Given the description of an element on the screen output the (x, y) to click on. 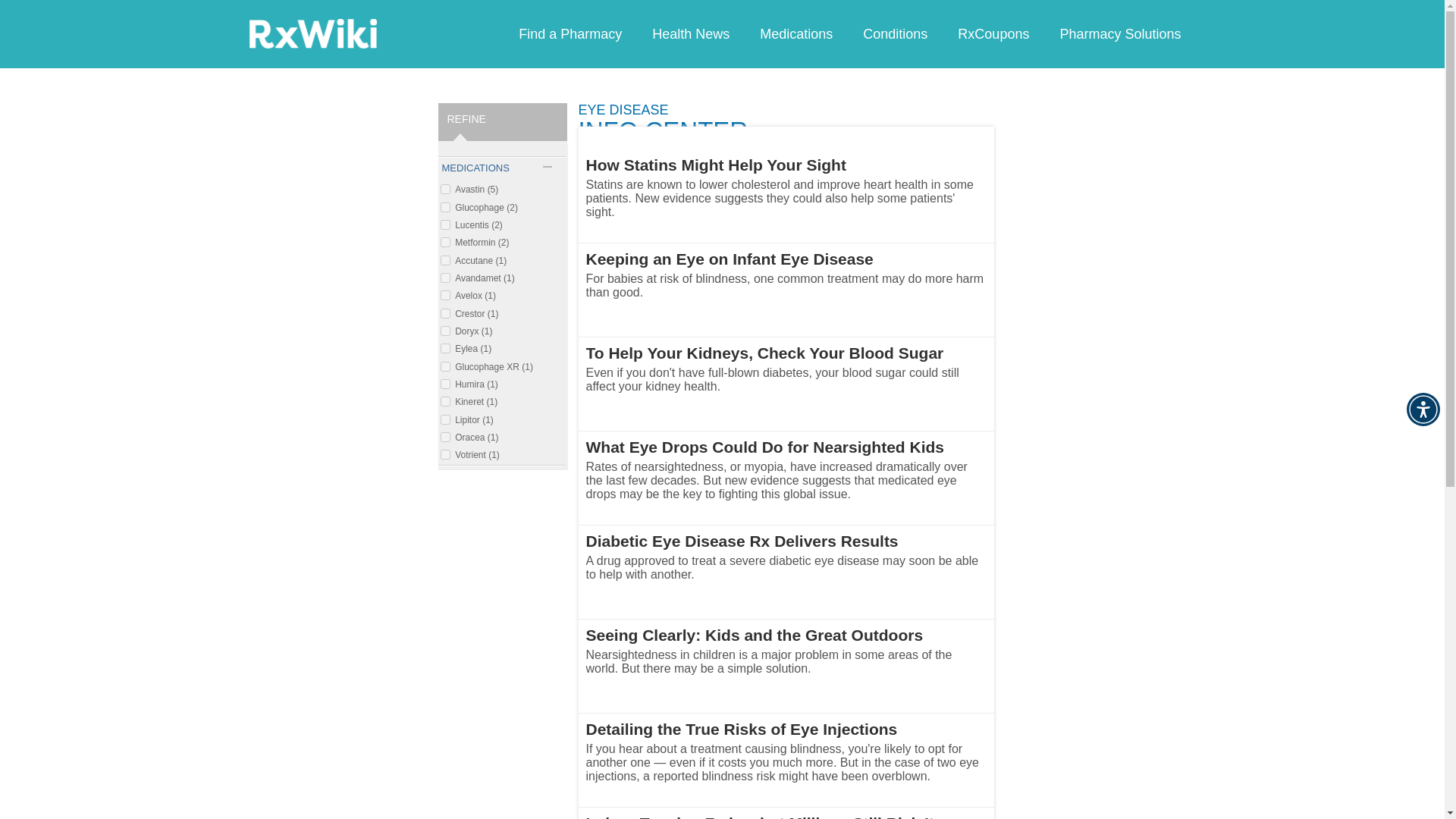
on (444, 419)
on (444, 401)
on (444, 437)
RxCoupons (992, 33)
on (444, 242)
on (444, 313)
Medications (795, 33)
on (444, 454)
on (444, 330)
on (444, 366)
on (444, 260)
